Given the description of an element on the screen output the (x, y) to click on. 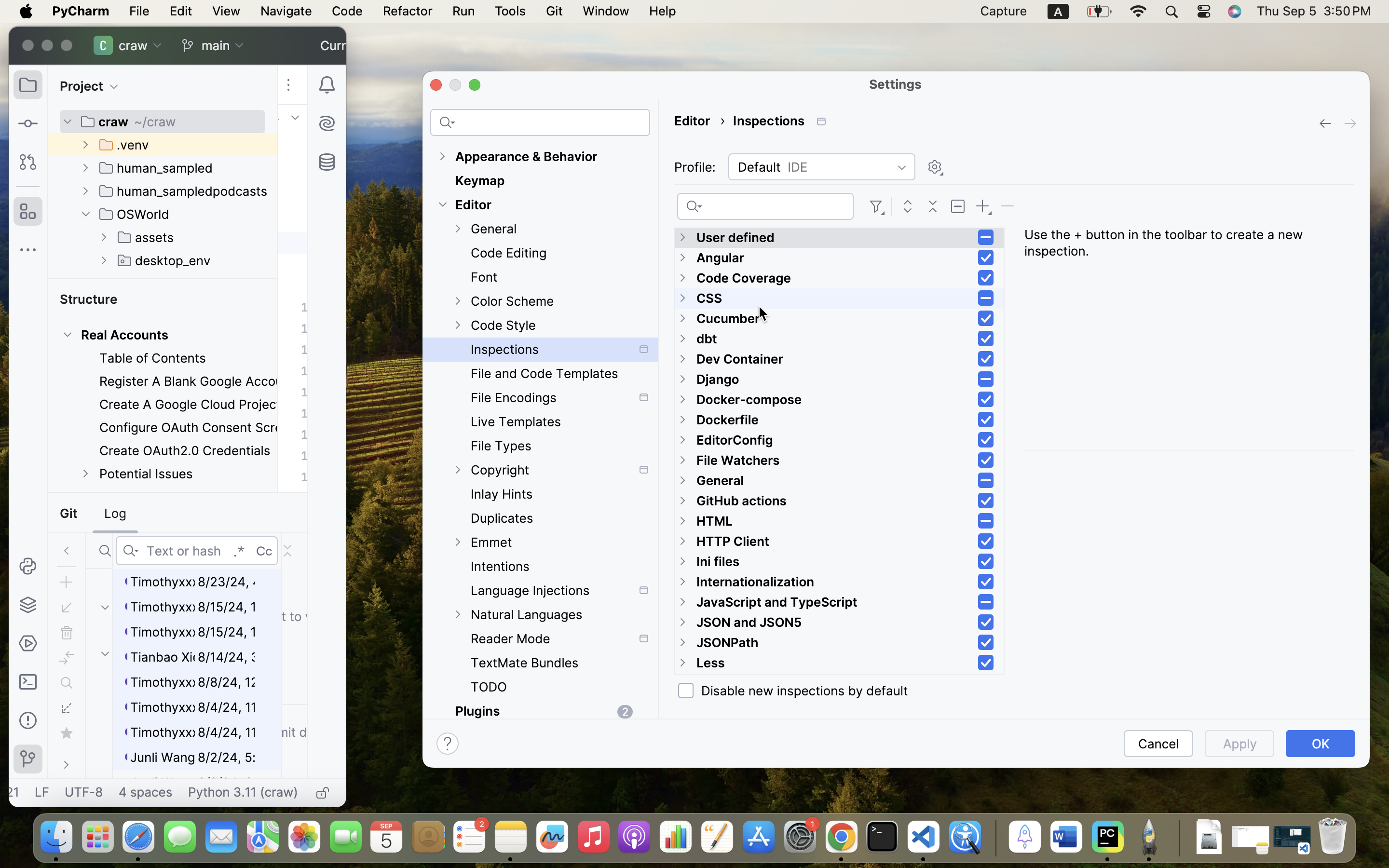
1 Element type: AXCheckBox (985, 338)
1 Element type: AXCell (985, 440)
0.4285714328289032 Element type: AXDockItem (993, 837)
Default Element type: AXPopUpButton (821, 166)
Use the + button in the toolbar to create a new inspection. Element type: AXTextField (1189, 338)
